Given the description of an element on the screen output the (x, y) to click on. 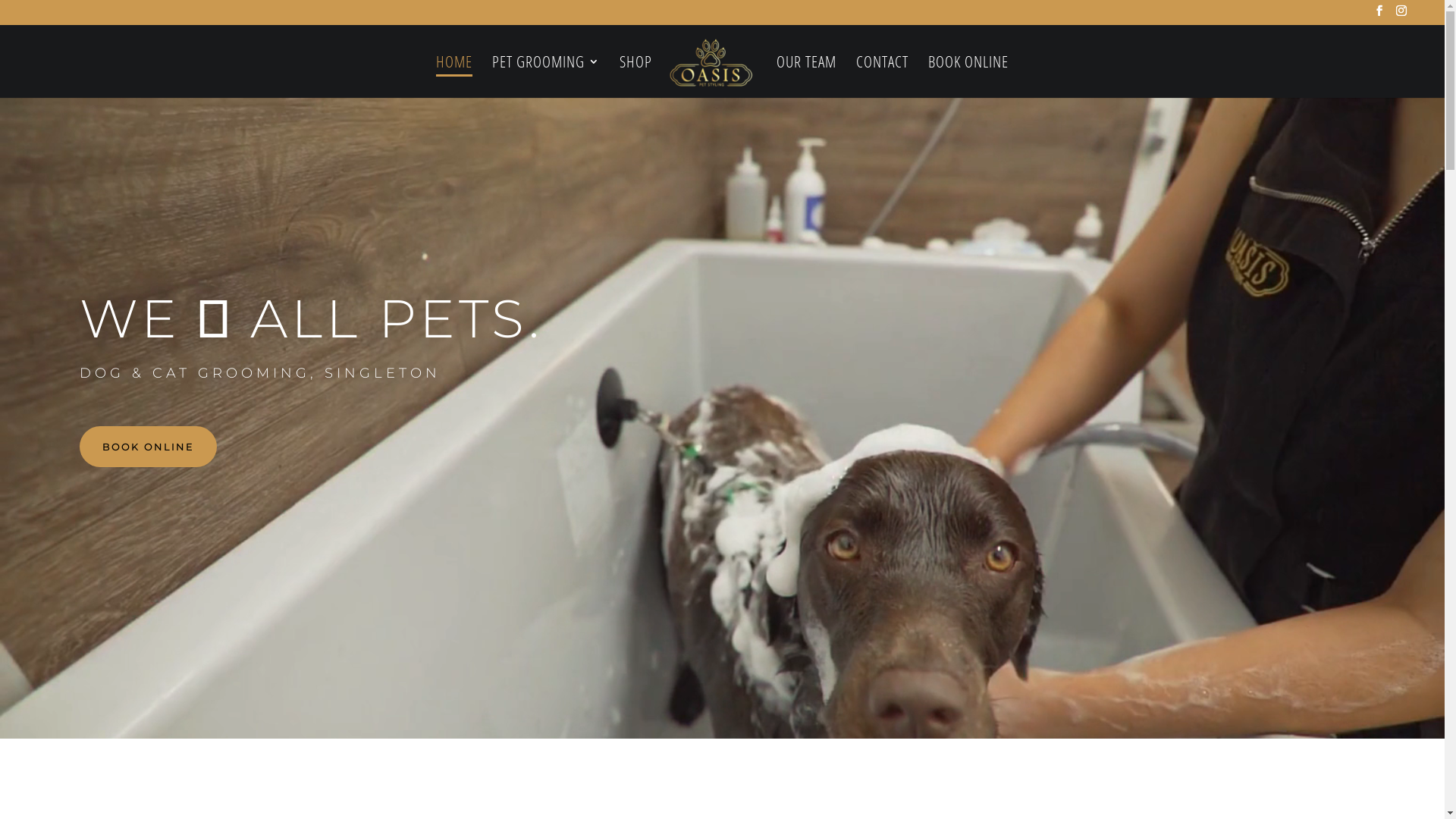
SHOP Element type: text (635, 76)
BOOK ONLINE Element type: text (147, 446)
CONTACT Element type: text (882, 76)
HOME Element type: text (454, 76)
PET GROOMING Element type: text (545, 76)
BOOK ONLINE Element type: text (968, 76)
OUR TEAM Element type: text (806, 76)
